Given the description of an element on the screen output the (x, y) to click on. 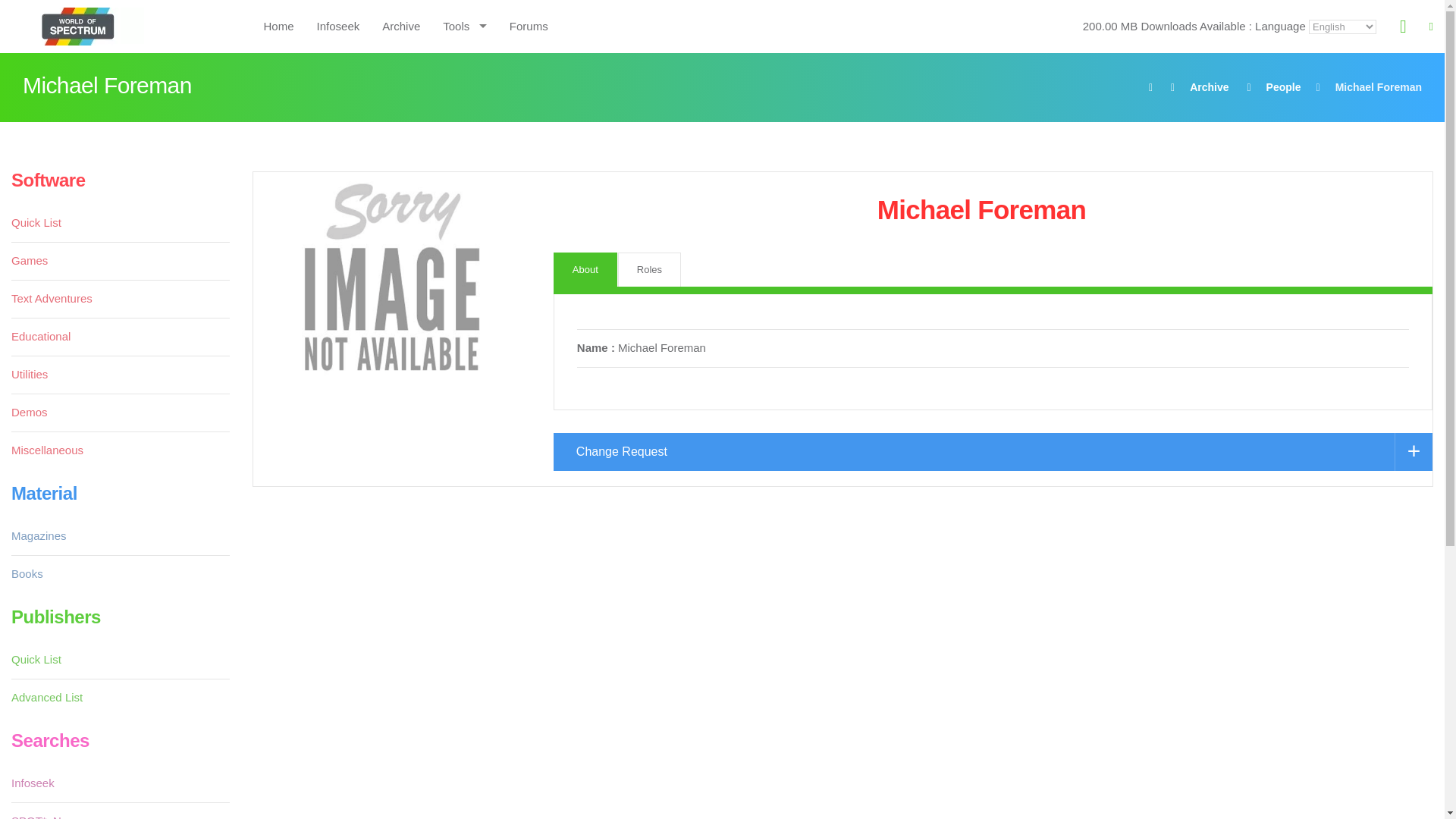
Home (277, 26)
Infoseek (338, 26)
Change Request (992, 451)
Roles (649, 269)
Forums (528, 26)
Archive (400, 26)
Tools (463, 26)
People (1283, 87)
Archive (1208, 87)
About (585, 269)
